Given the description of an element on the screen output the (x, y) to click on. 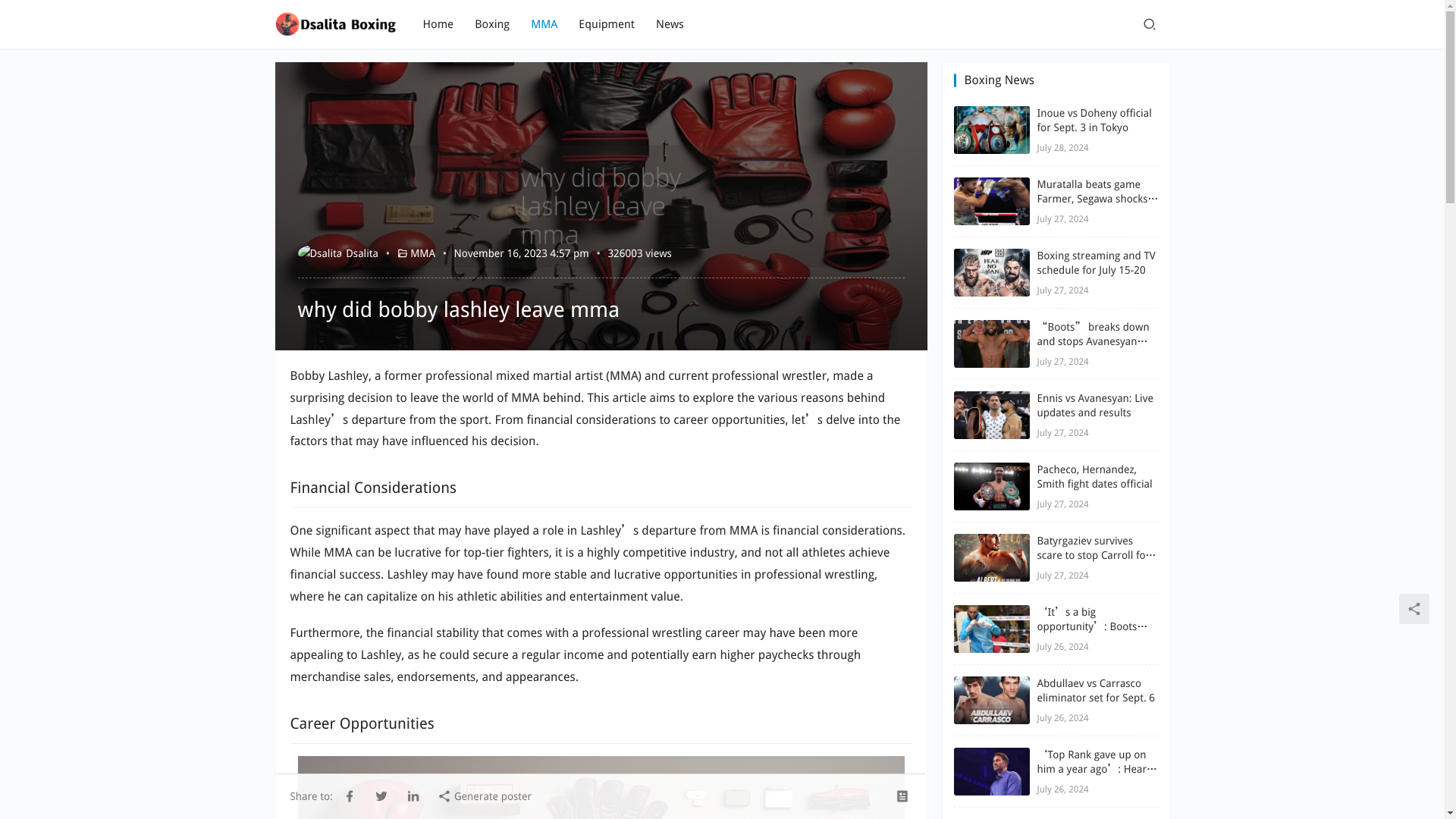
Equipment (606, 24)
MMA (544, 24)
Boxing (491, 24)
MMA (422, 253)
why did bobby lashley leave mma (600, 787)
Dsalita (337, 253)
Home (438, 24)
News (670, 24)
Generate poster (483, 795)
